Given the description of an element on the screen output the (x, y) to click on. 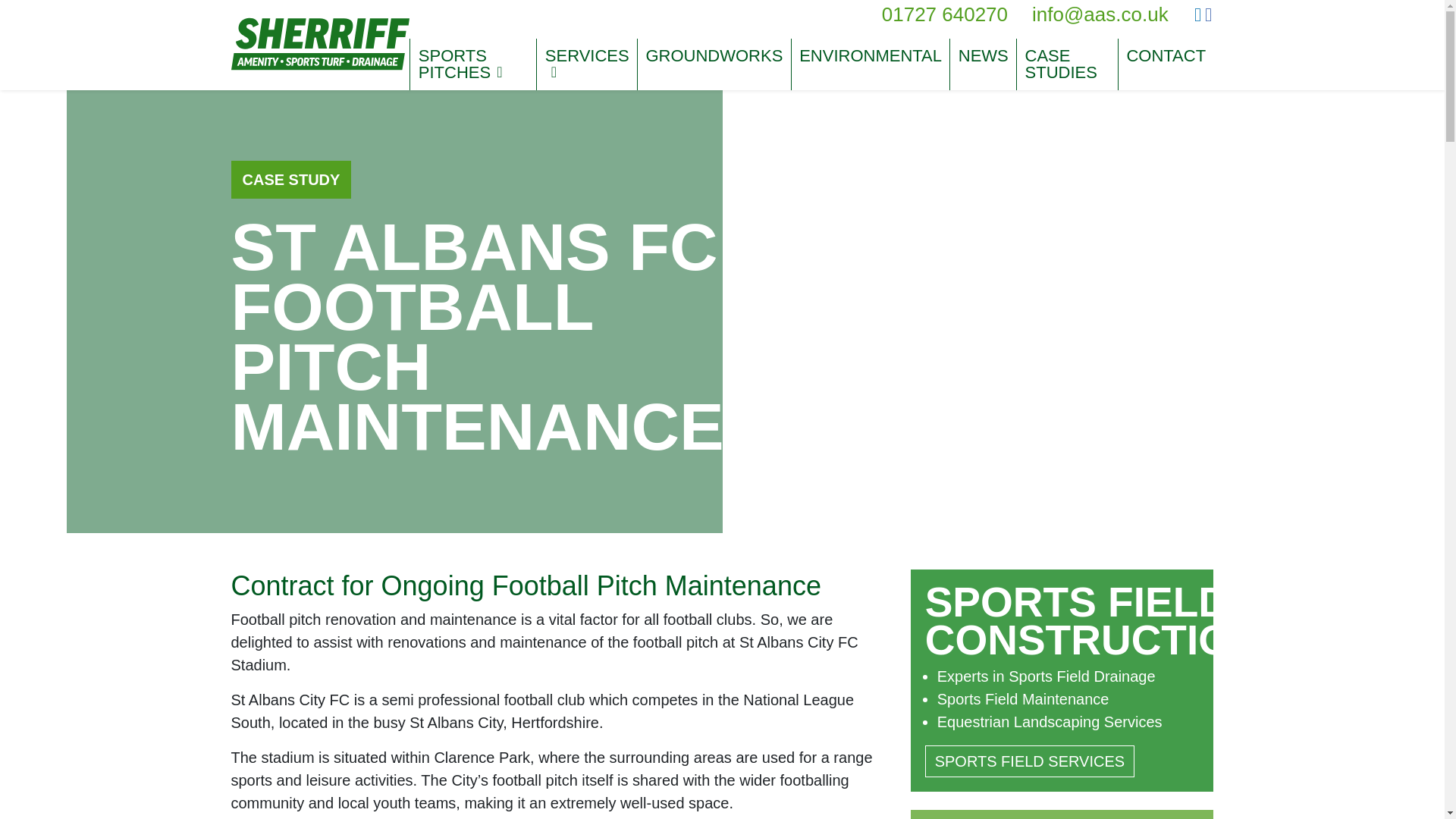
SPORTS FIELD SERVICES (1029, 761)
SERVICES (587, 64)
CASE STUDIES (1067, 64)
SPORTS PITCHES (472, 64)
CONTACT (1165, 55)
GROUNDWORKS (713, 55)
NEWS (983, 55)
ENVIRONMENTAL (871, 55)
01727 640270 (944, 14)
